Given the description of an element on the screen output the (x, y) to click on. 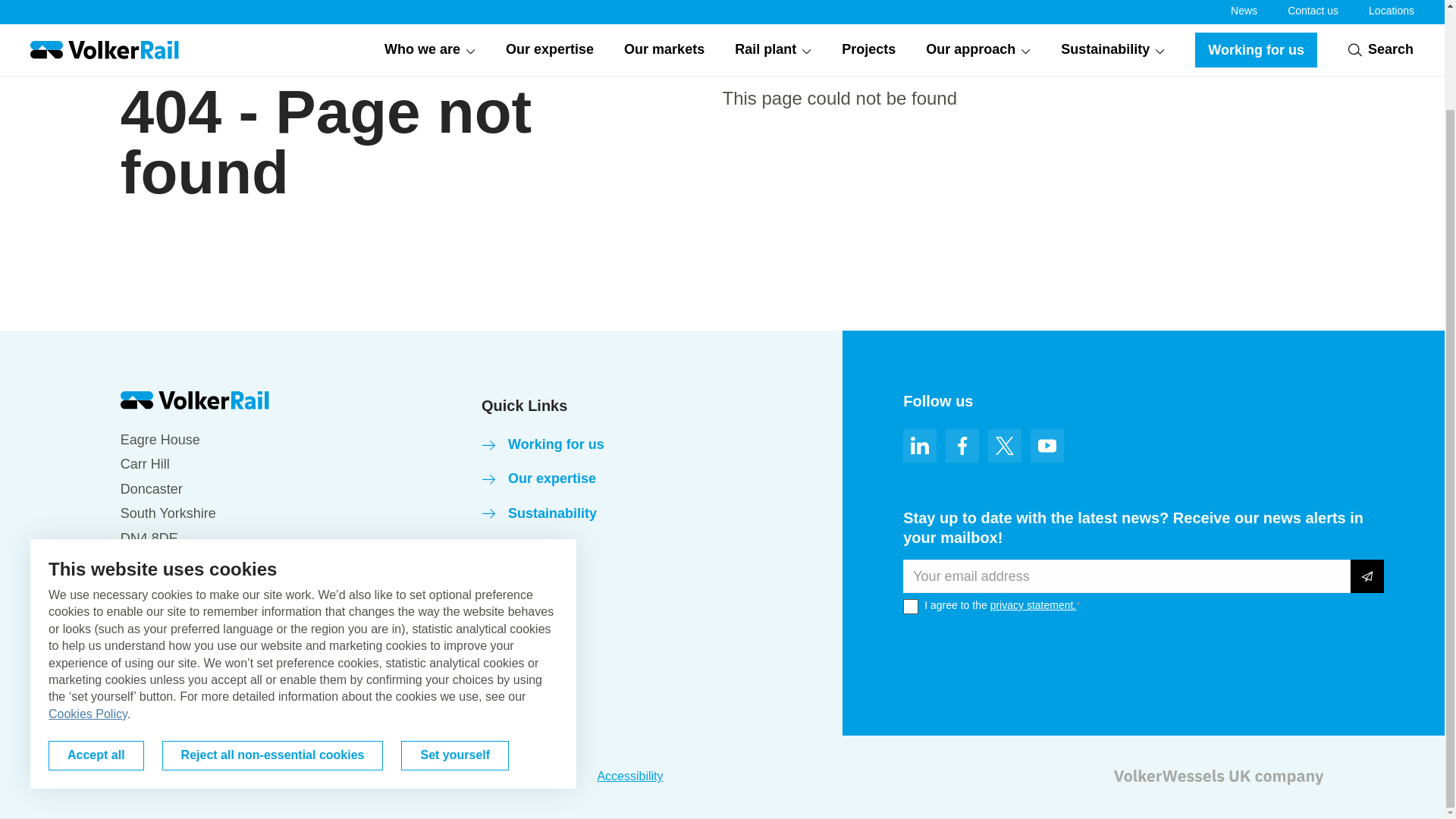
Submit (1367, 575)
